Given the description of an element on the screen output the (x, y) to click on. 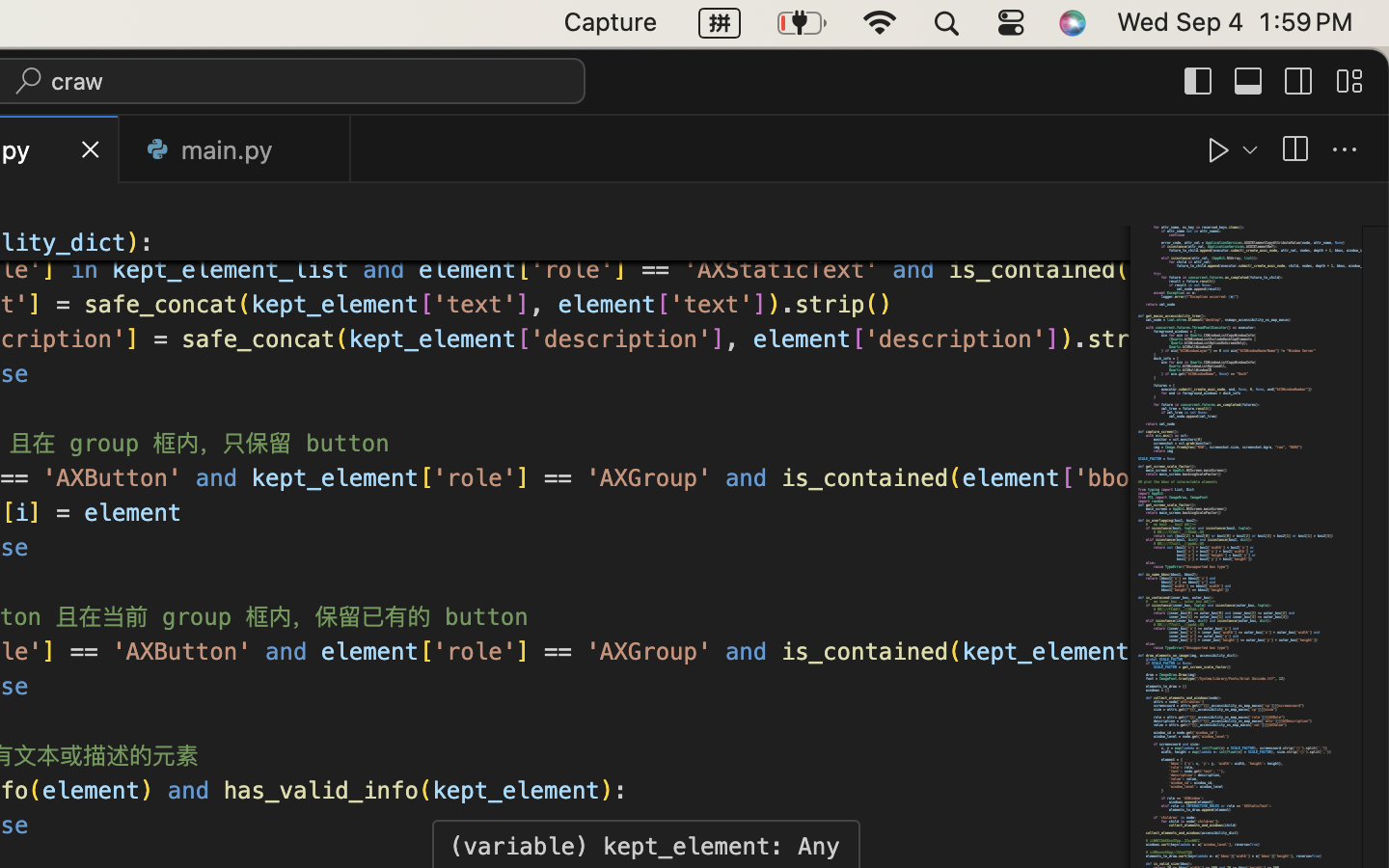
0 main.py   Element type: AXRadioButton (235, 149)
 Element type: AXButton (1349, 80)
 Element type: AXStaticText (1344, 150)
 Element type: AXCheckBox (1198, 80)
 Element type: AXButton (1294, 150)
